Given the description of an element on the screen output the (x, y) to click on. 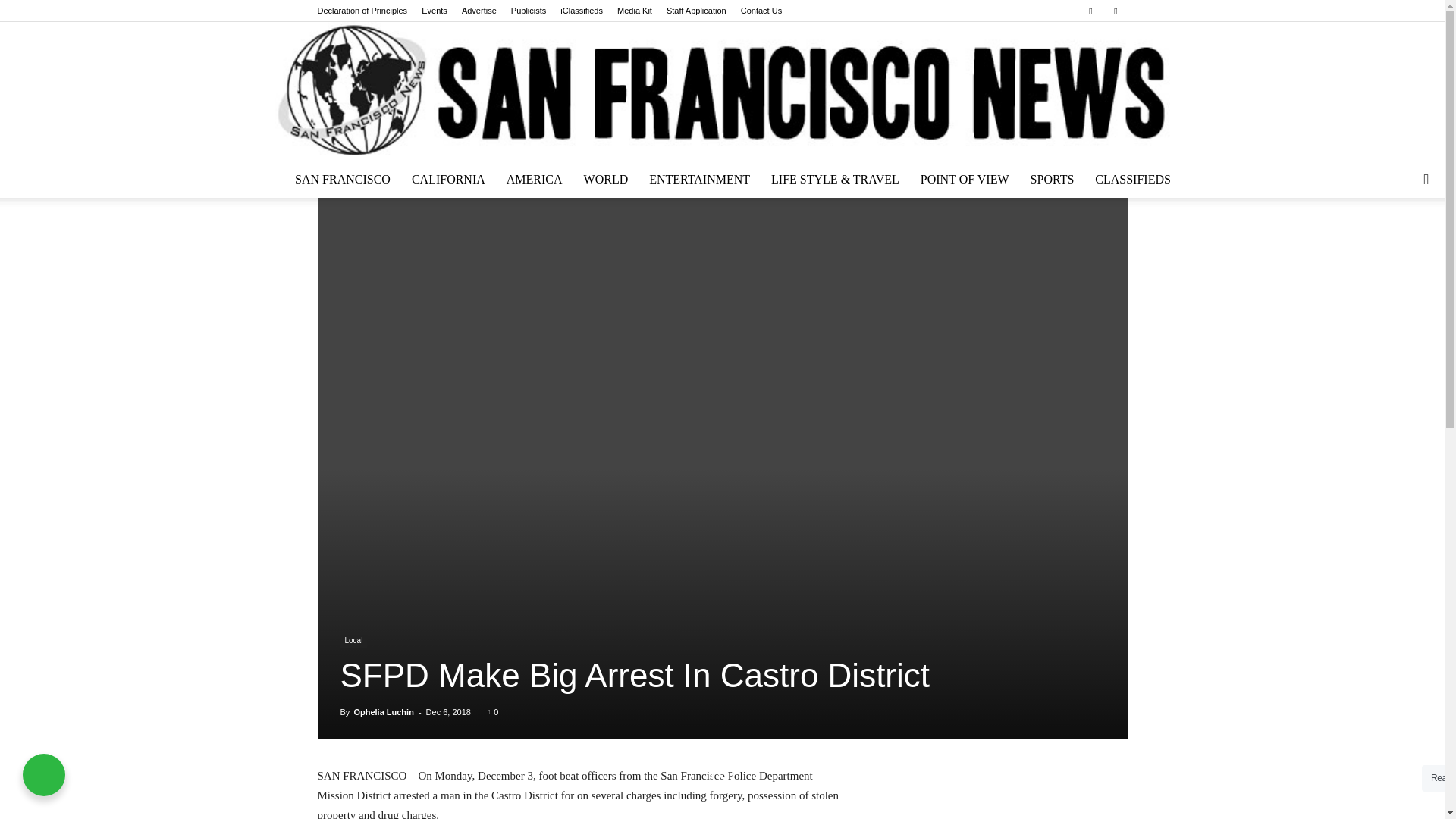
Media Kit (634, 10)
Staff Application (696, 10)
iClassifieds (581, 10)
Contact Us (761, 10)
Facebook (1090, 10)
Twitter (1114, 10)
Events (434, 10)
Publicists (528, 10)
Declaration of Principles (362, 10)
Advertise (478, 10)
